Given the description of an element on the screen output the (x, y) to click on. 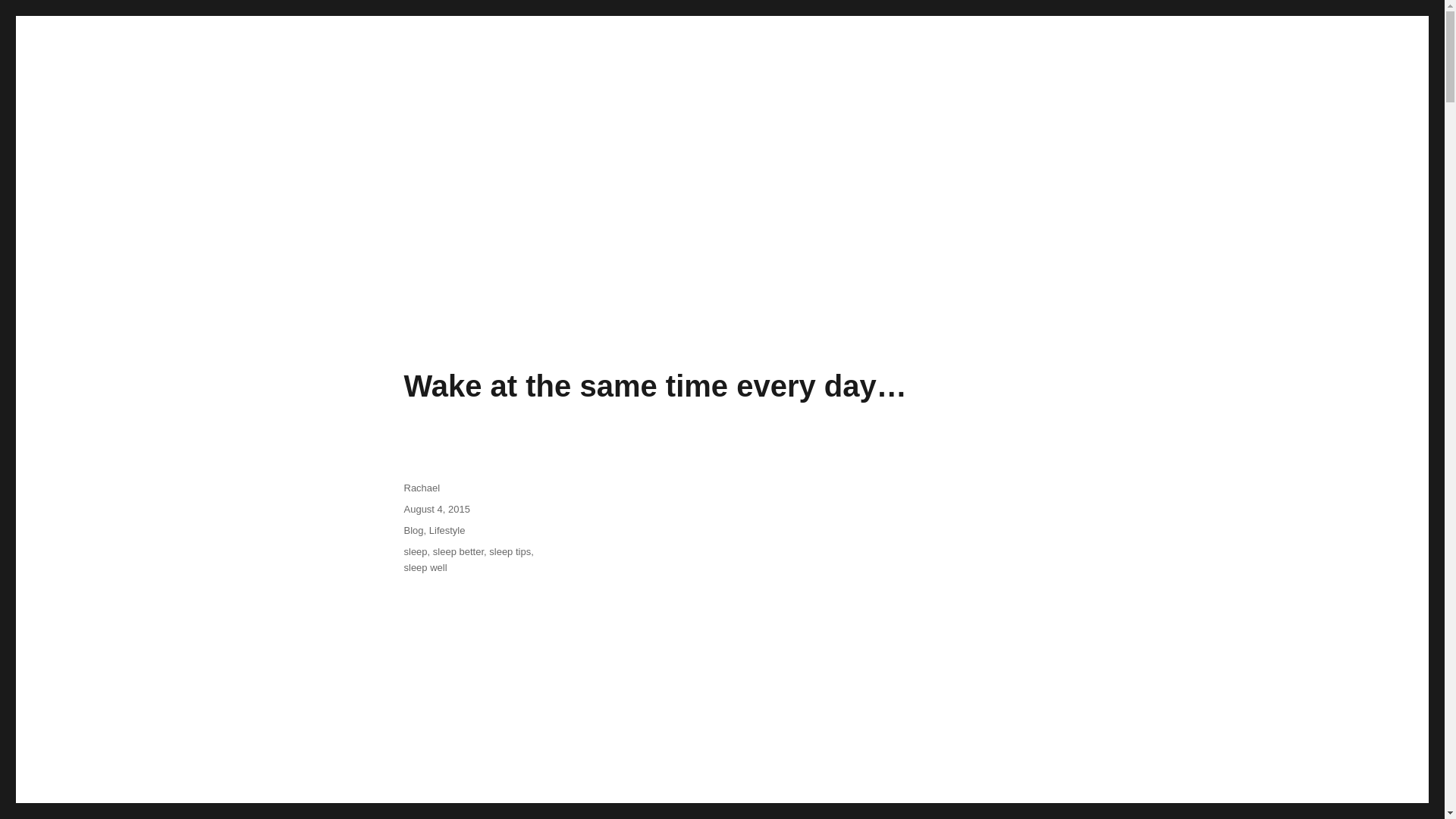
sleep well (424, 567)
sleep better (457, 551)
sleep tips (510, 551)
August 4, 2015 (435, 509)
sleep (414, 551)
Rachael Phillips (347, 306)
Lifestyle (447, 530)
Rachael (421, 487)
Blog (413, 530)
